Given the description of an element on the screen output the (x, y) to click on. 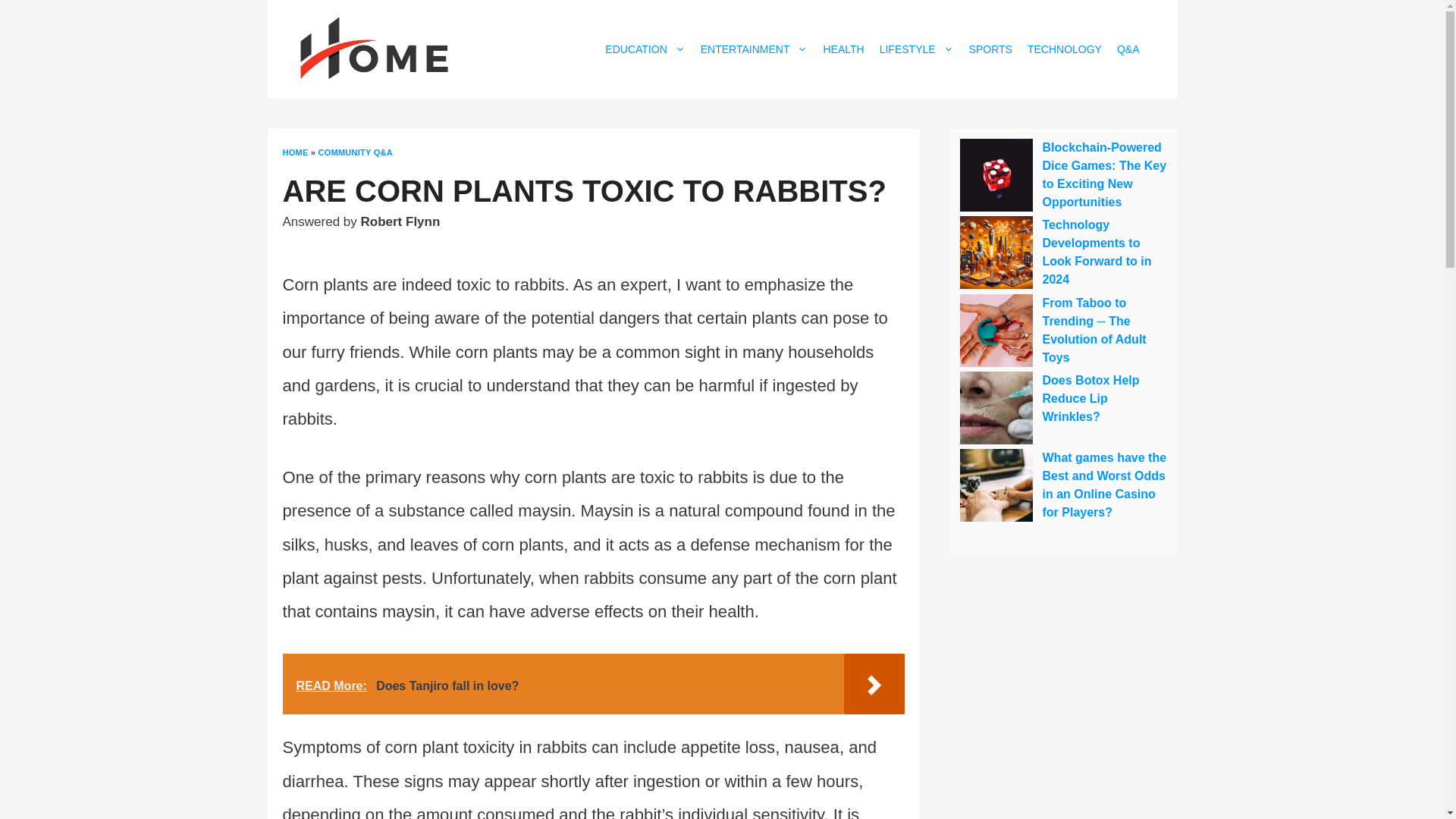
Technology Developments to Look Forward to in 2024 2 (995, 252)
EDUCATION (644, 48)
ENTERTAINMENT (754, 48)
TECHNOLOGY (1064, 48)
SPORTS (990, 48)
HEALTH (842, 48)
Does Botox Help Reduce Lip Wrinkles? 4 (995, 407)
LIFESTYLE (916, 48)
